Given the description of an element on the screen output the (x, y) to click on. 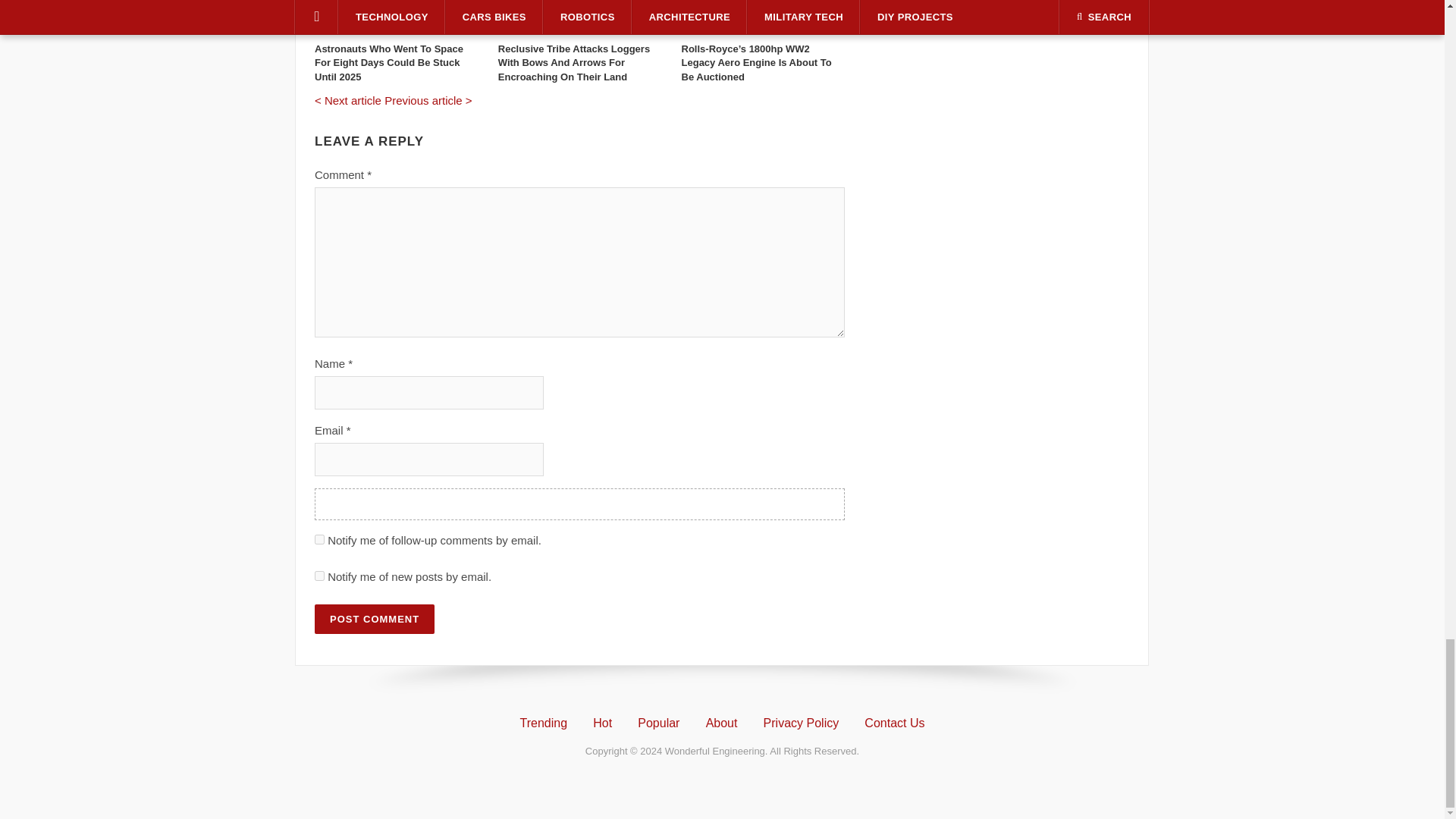
subscribe (319, 575)
Post Comment (373, 618)
subscribe (319, 539)
